Given the description of an element on the screen output the (x, y) to click on. 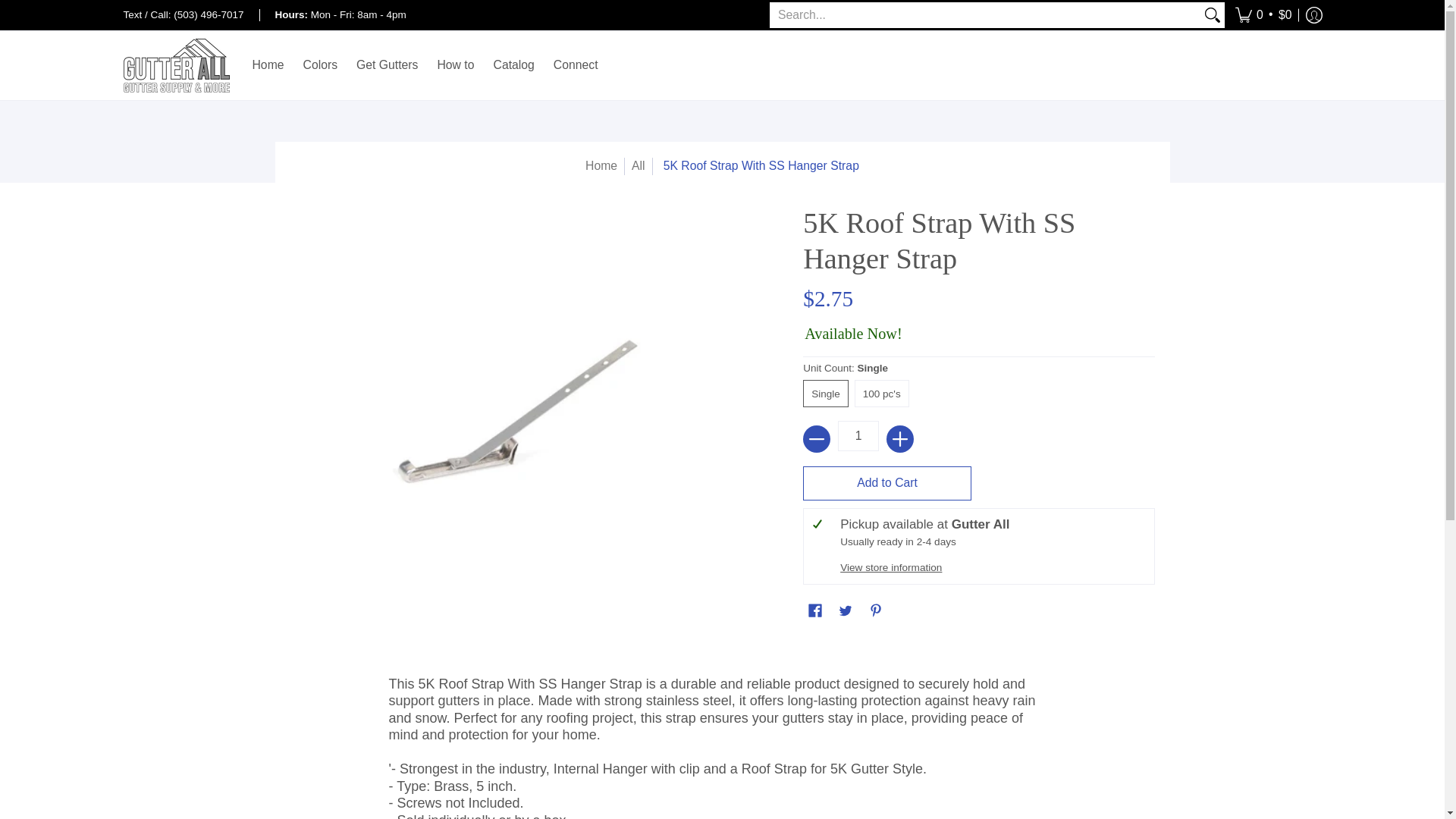
Cart (1263, 15)
Home (601, 164)
View store information (891, 566)
1 (858, 435)
Gutter All (175, 65)
Get Gutters (387, 65)
Log in (1312, 15)
Get Gutters (387, 65)
Add to Cart (887, 483)
100 pc's (884, 393)
